Given the description of an element on the screen output the (x, y) to click on. 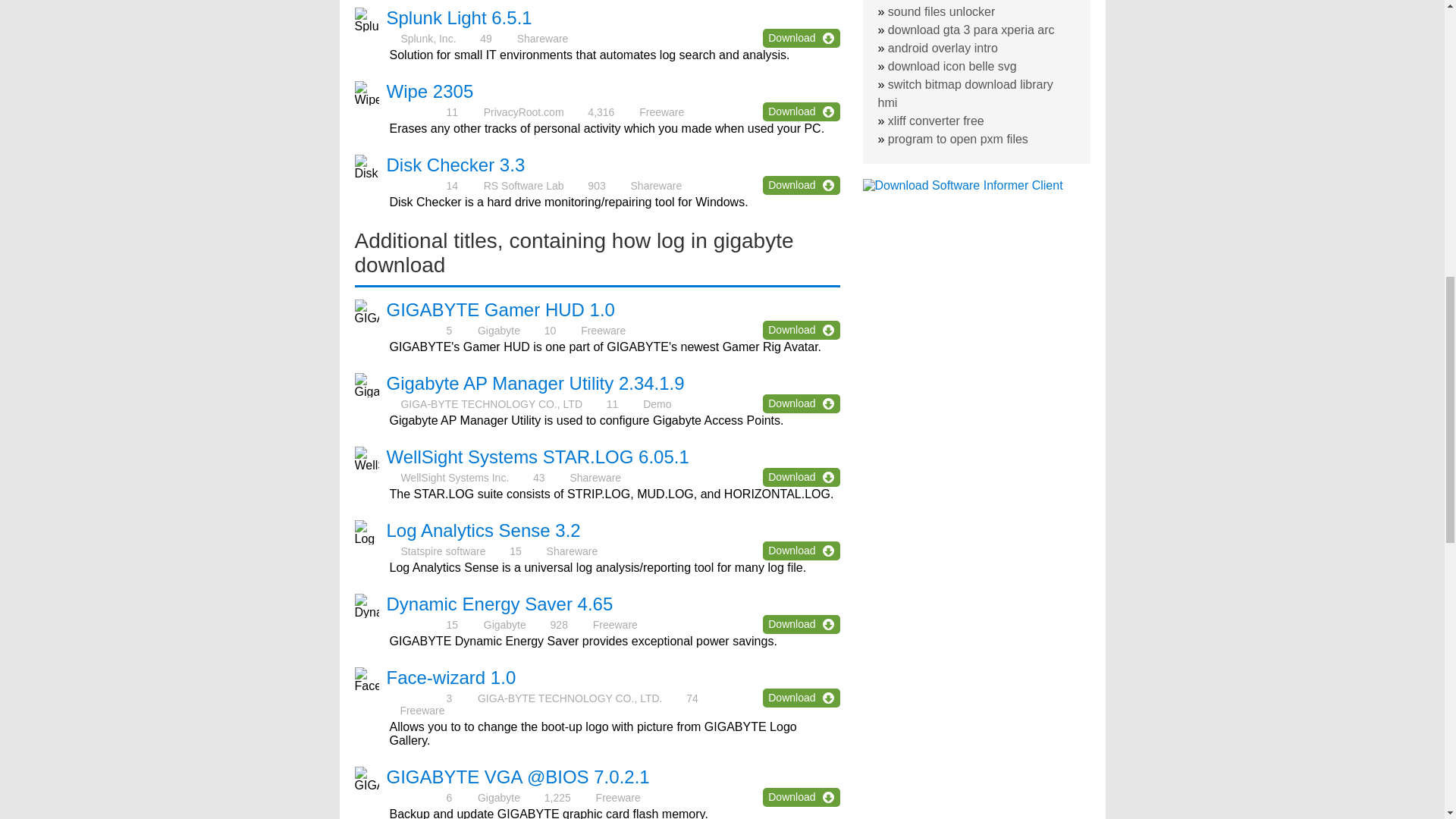
GIGABYTE Gamer HUD 1.0 (500, 309)
Splunk Light 6.5.1 (459, 17)
Wipe 2305 (430, 91)
Disk Checker 3.3 (456, 164)
Splunk Light 6.5.1 (459, 17)
Download (801, 330)
Disk Checker 3.3 (456, 164)
Gigabyte AP Manager Utility 2.34.1.9 (535, 383)
4.6 (415, 623)
Face-wizard 1.0 (451, 677)
WellSight Systems STAR.LOG 6.05.1 (537, 456)
Download (801, 403)
GIGABYTE Gamer HUD 1.0 (500, 309)
Wipe 2305 (430, 91)
Download (801, 550)
